Given the description of an element on the screen output the (x, y) to click on. 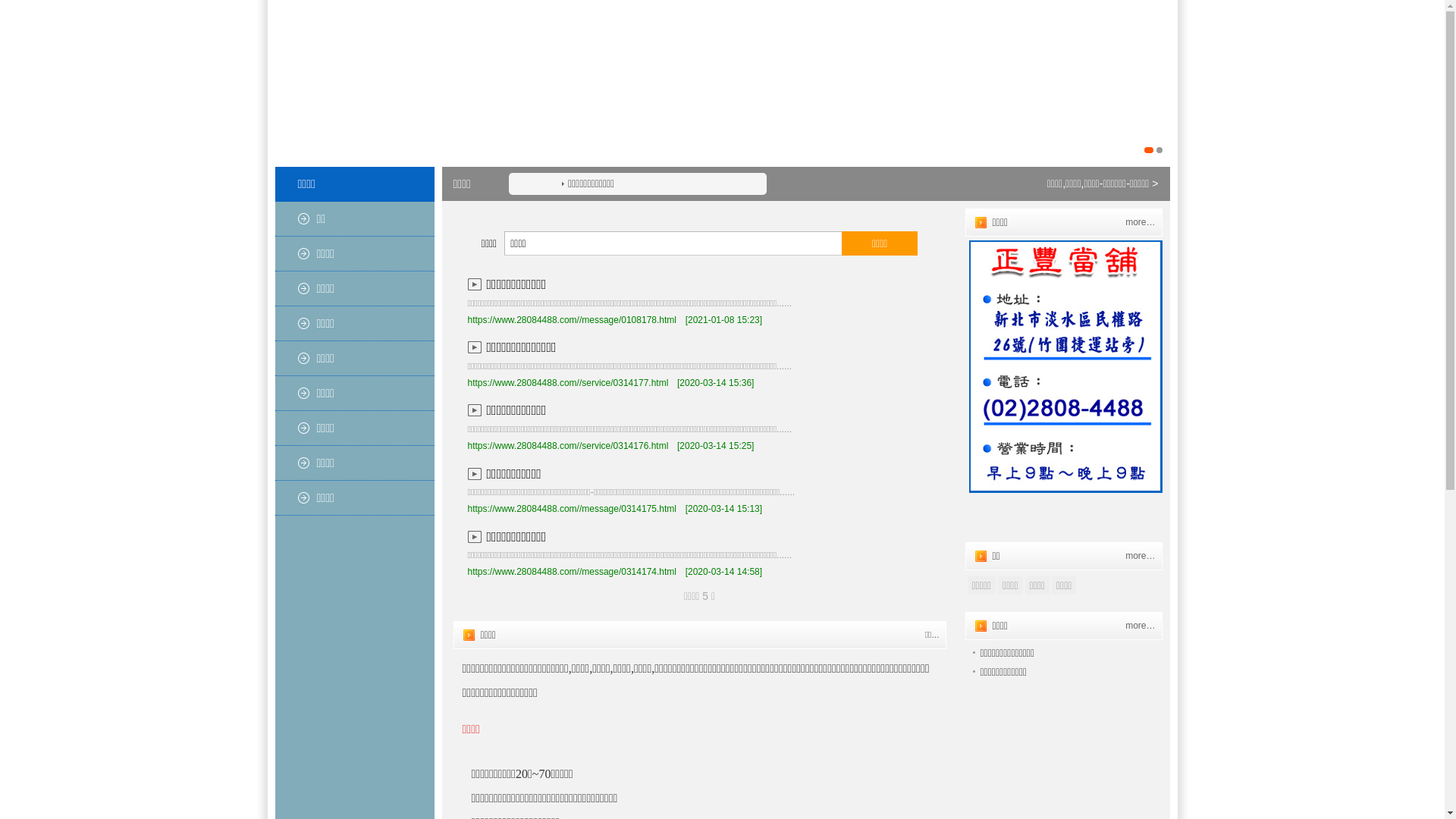
https://www.28084488.com//message/0314174.html Element type: text (571, 571)
https://www.28084488.com//service/0314177.html Element type: text (567, 382)
https://www.28084488.com//message/0108178.html Element type: text (571, 319)
https://www.28084488.com//service/0314176.html Element type: text (567, 445)
https://www.28084488.com//message/0314175.html Element type: text (571, 508)
